Given the description of an element on the screen output the (x, y) to click on. 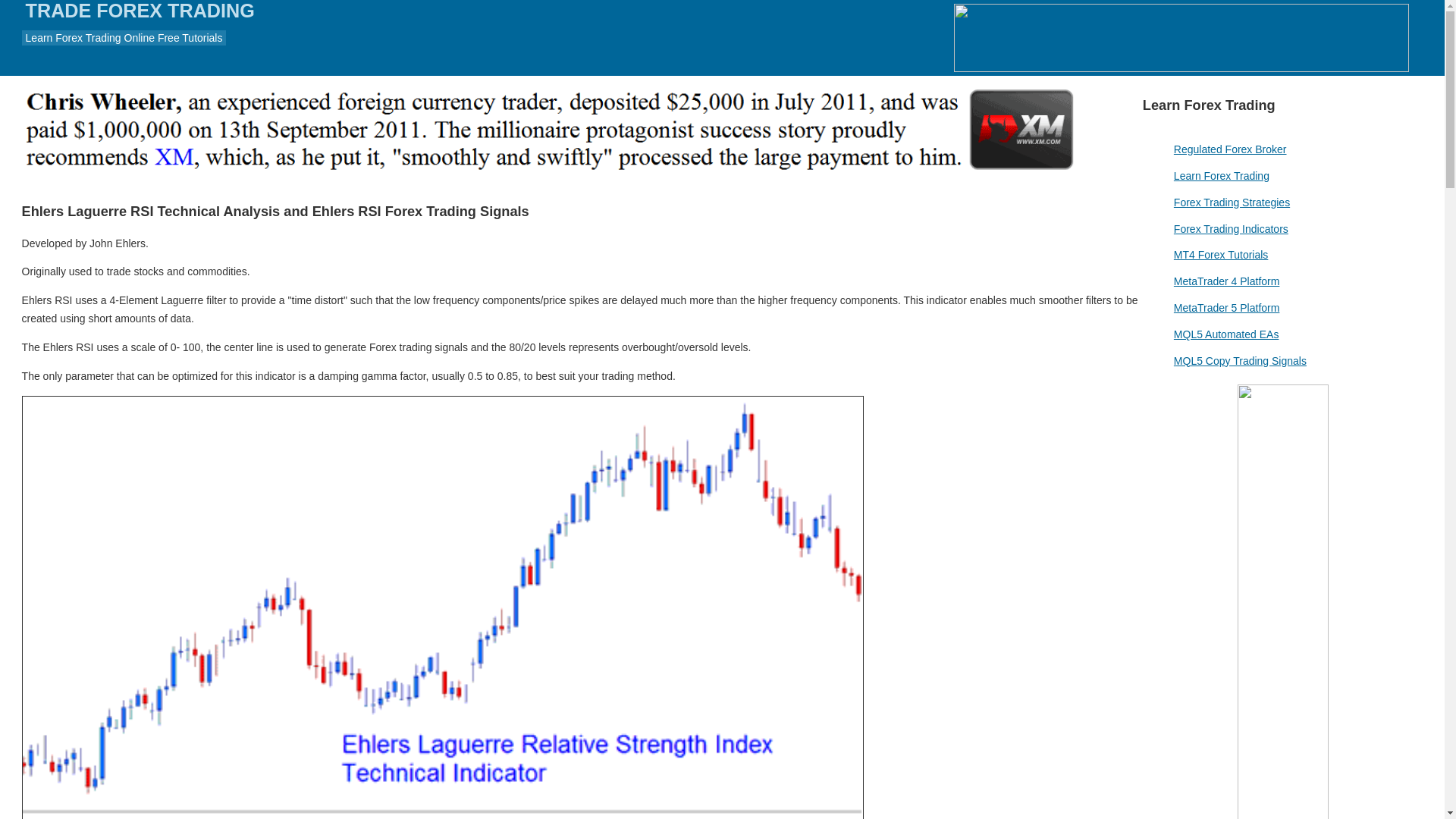
MQL5 Copy Trading Signals (1239, 360)
MQL5 Automated EAs (1226, 334)
MT4 Forex Tutorials (1220, 254)
MetaTrader 4 Platform (1226, 281)
Forex Trading Strategies (1231, 202)
MetaTrader 5 Platform (1226, 307)
Learn Forex Trading (1221, 175)
Open Account (1181, 38)
Regulated Forex Broker (1230, 149)
Forex Trading Indicators (1230, 228)
